Given the description of an element on the screen output the (x, y) to click on. 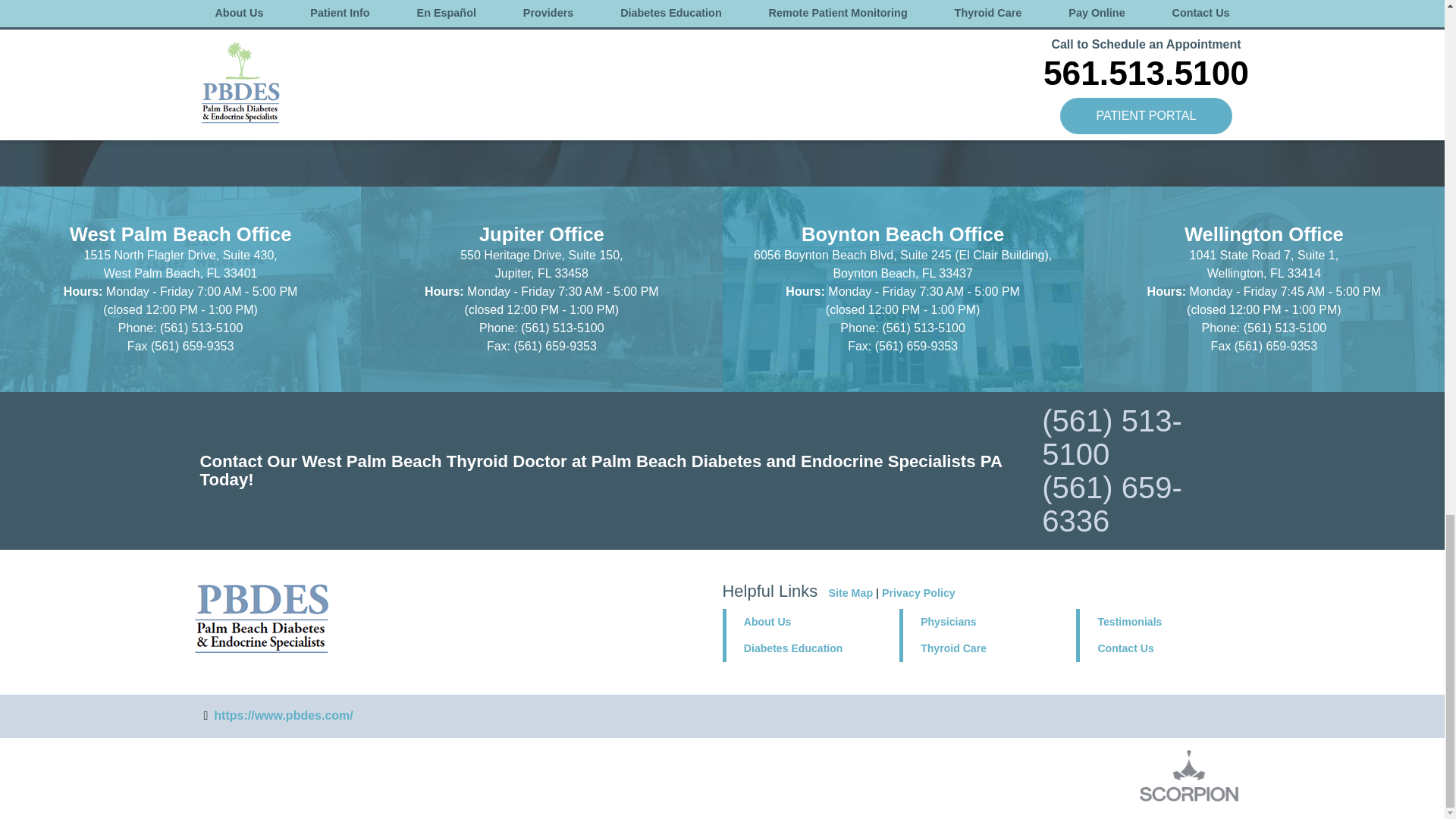
Internet Marketing Experts (1189, 776)
Palm Beach Diabetes and Endocrine Specialists PA (260, 619)
